Given the description of an element on the screen output the (x, y) to click on. 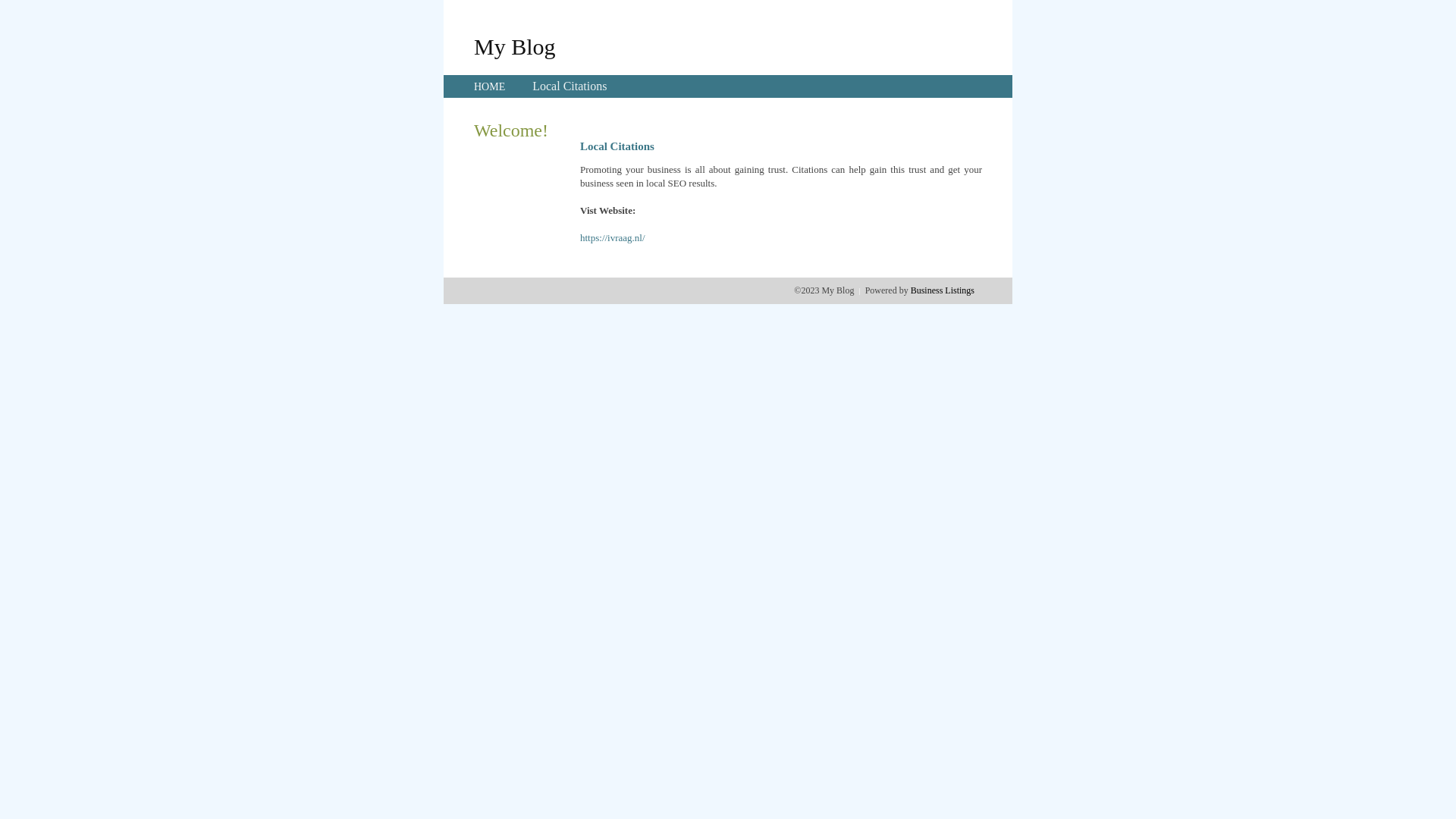
My Blog Element type: text (514, 46)
https://ivraag.nl/ Element type: text (612, 237)
Local Citations Element type: text (569, 85)
Business Listings Element type: text (942, 290)
HOME Element type: text (489, 86)
